Given the description of an element on the screen output the (x, y) to click on. 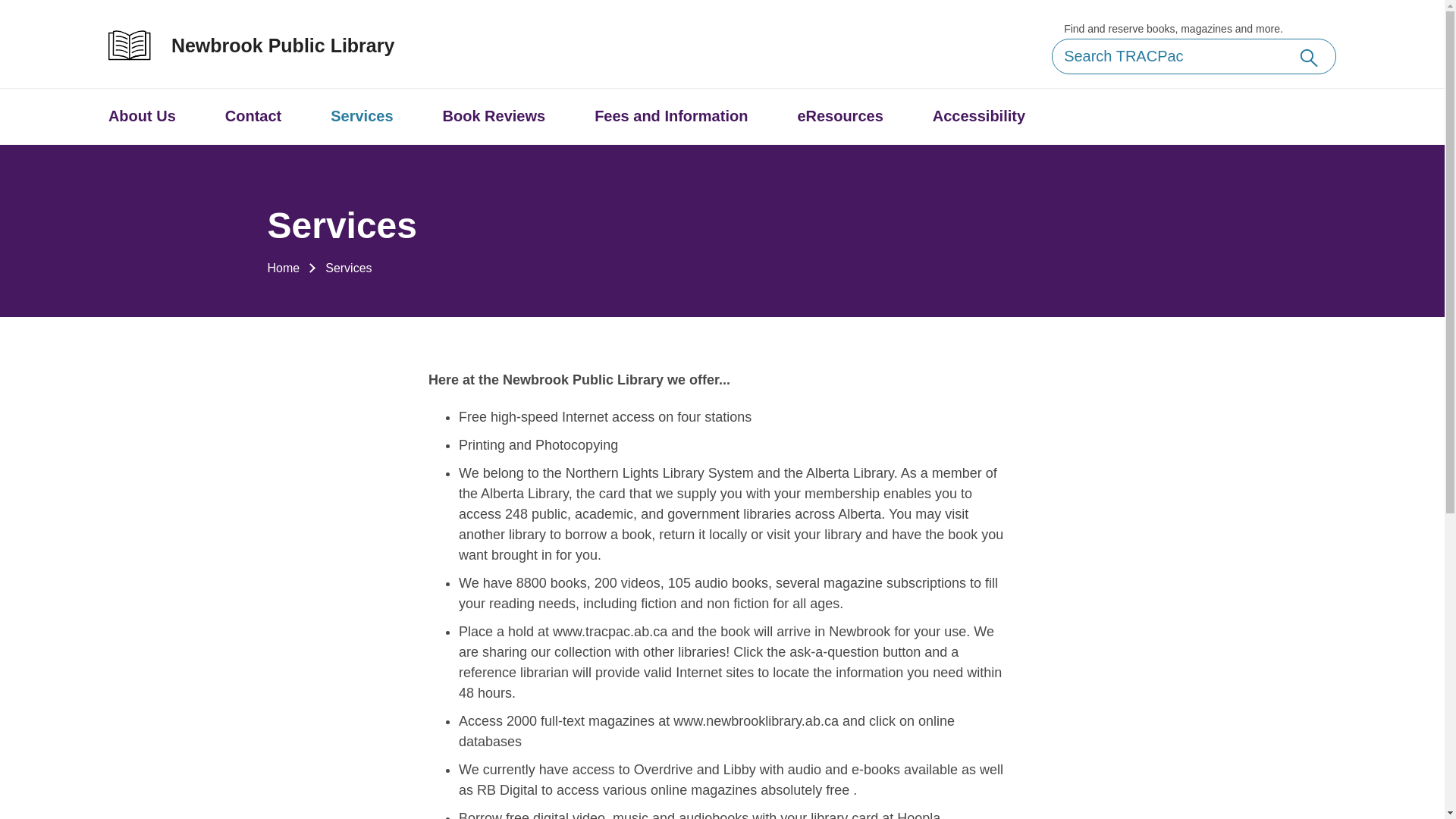
Newbrook Public Library Element type: text (266, 45)
Services Element type: text (361, 116)
About Us Element type: text (141, 116)
Fees and Information Element type: text (670, 116)
Accessibility Element type: text (978, 116)
Home Element type: text (282, 267)
Book Reviews Element type: text (494, 116)
eResources Element type: text (839, 116)
Contact Element type: text (253, 116)
